Given the description of an element on the screen output the (x, y) to click on. 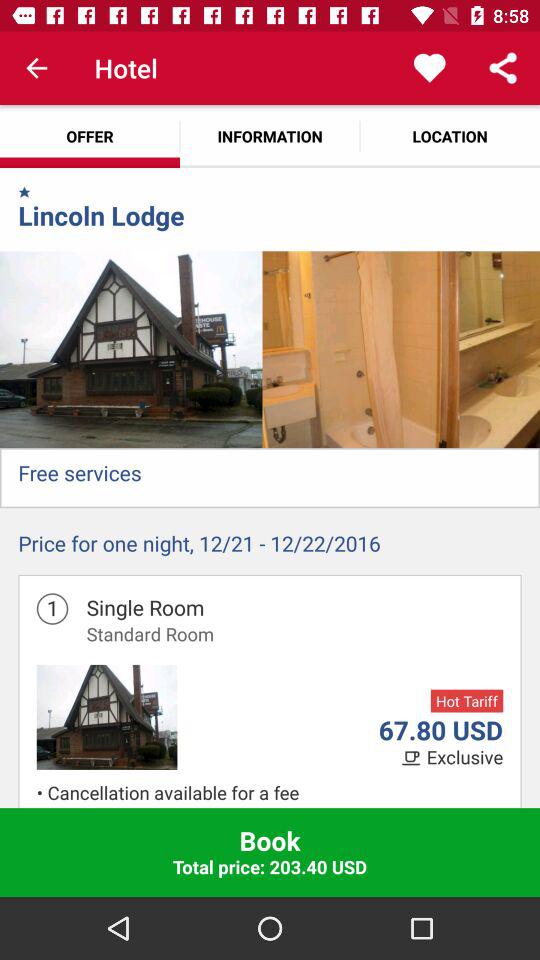
turn on icon to the left of location (270, 136)
